Given the description of an element on the screen output the (x, y) to click on. 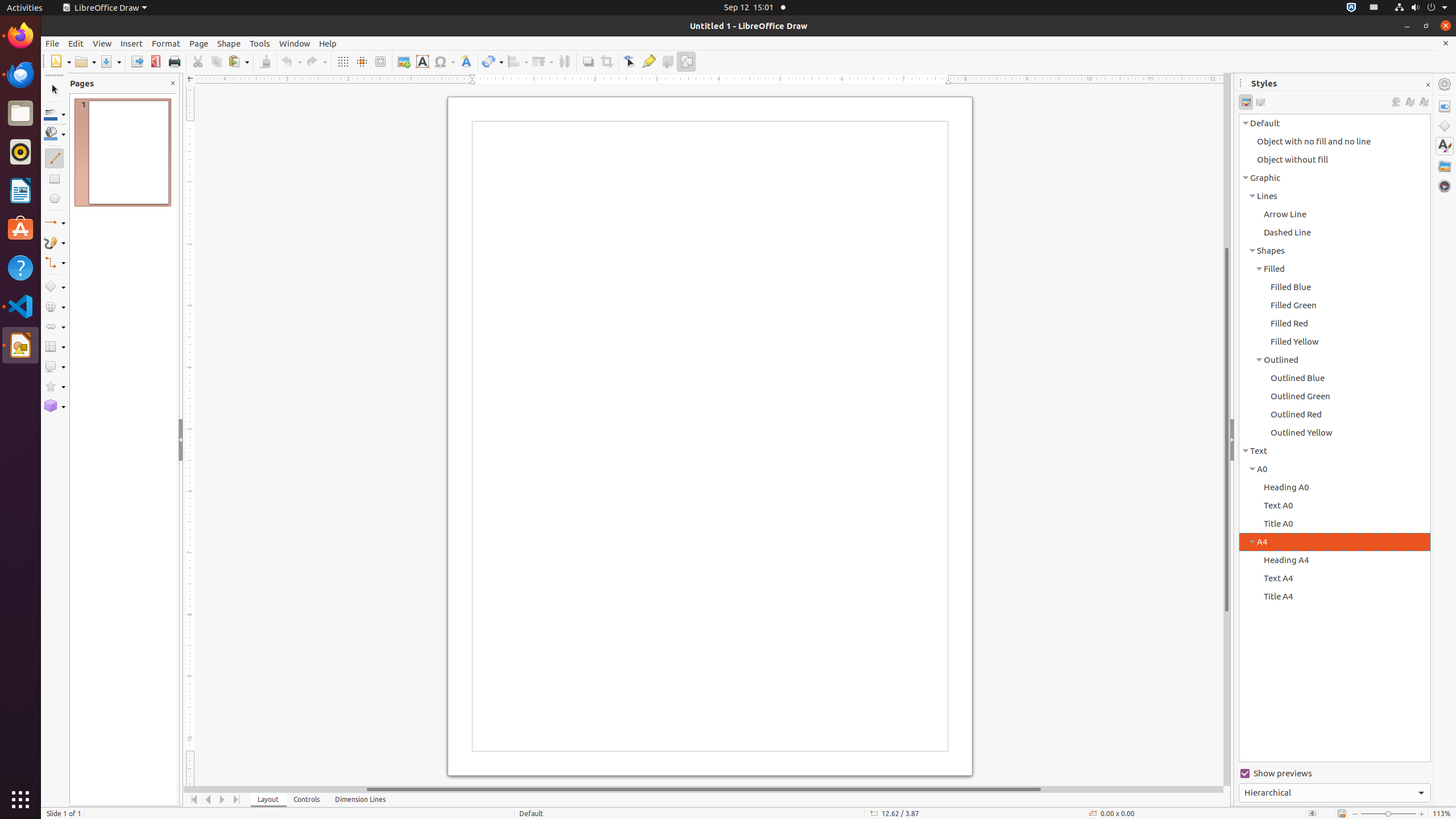
Rhythmbox Element type: push-button (20, 151)
Gallery Element type: radio-button (1444, 165)
Align Element type: push-button (517, 61)
Ubuntu Software Element type: push-button (20, 229)
System Element type: menu (1420, 7)
